Given the description of an element on the screen output the (x, y) to click on. 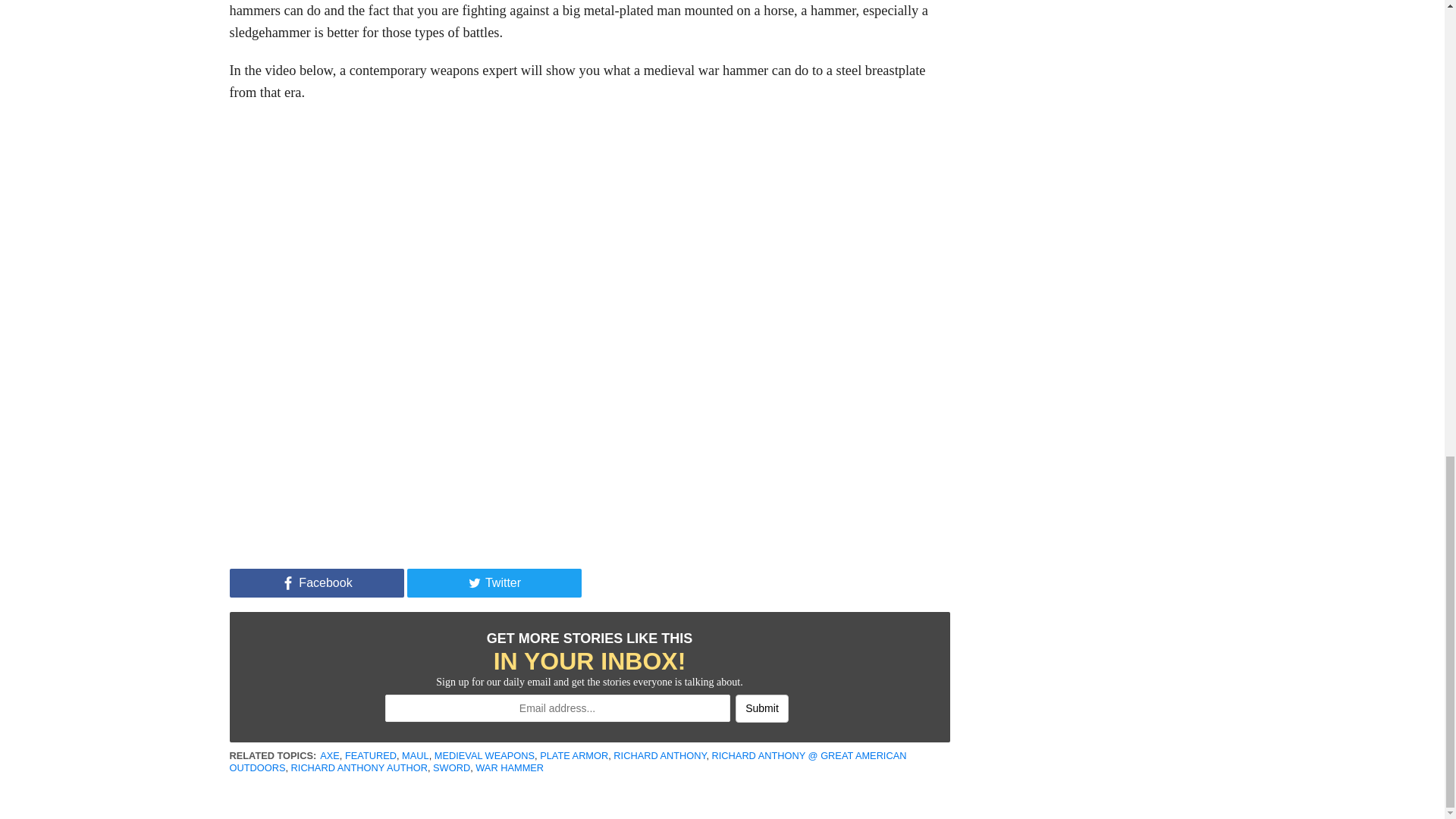
PLATE ARMOR (574, 755)
SWORD (451, 767)
Twitter (493, 582)
AXE (329, 755)
MAUL (415, 755)
WAR HAMMER (509, 767)
RICHARD ANTHONY (659, 755)
Submit (762, 708)
RICHARD ANTHONY AUTHOR (359, 767)
